Given the description of an element on the screen output the (x, y) to click on. 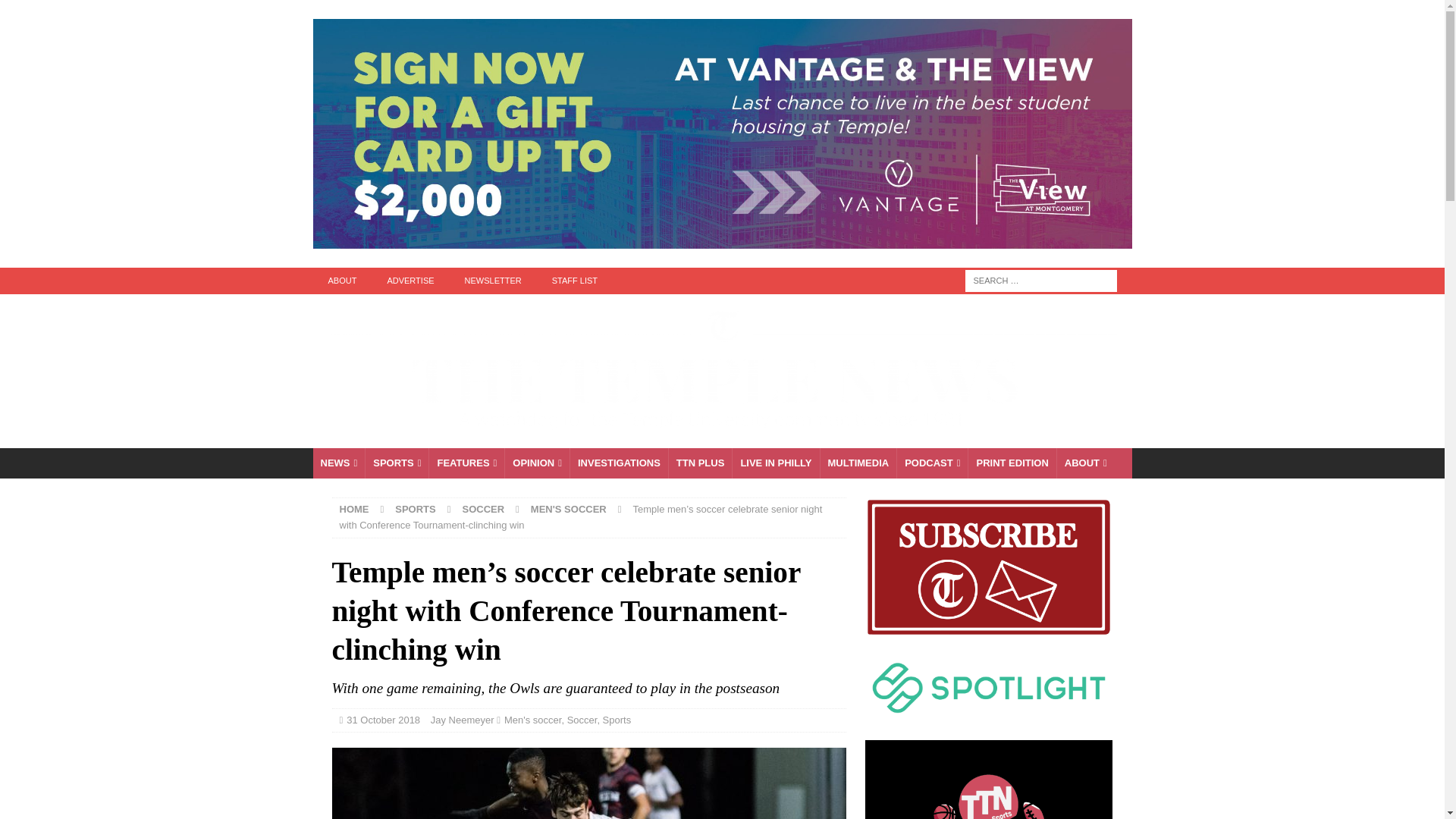
STAFF LIST (574, 280)
ADVERTISE (409, 280)
Search (56, 11)
Longform (700, 463)
ABOUT (342, 280)
Posts by Jay Neemeyer (462, 719)
NEWSLETTER (493, 280)
